Given the description of an element on the screen output the (x, y) to click on. 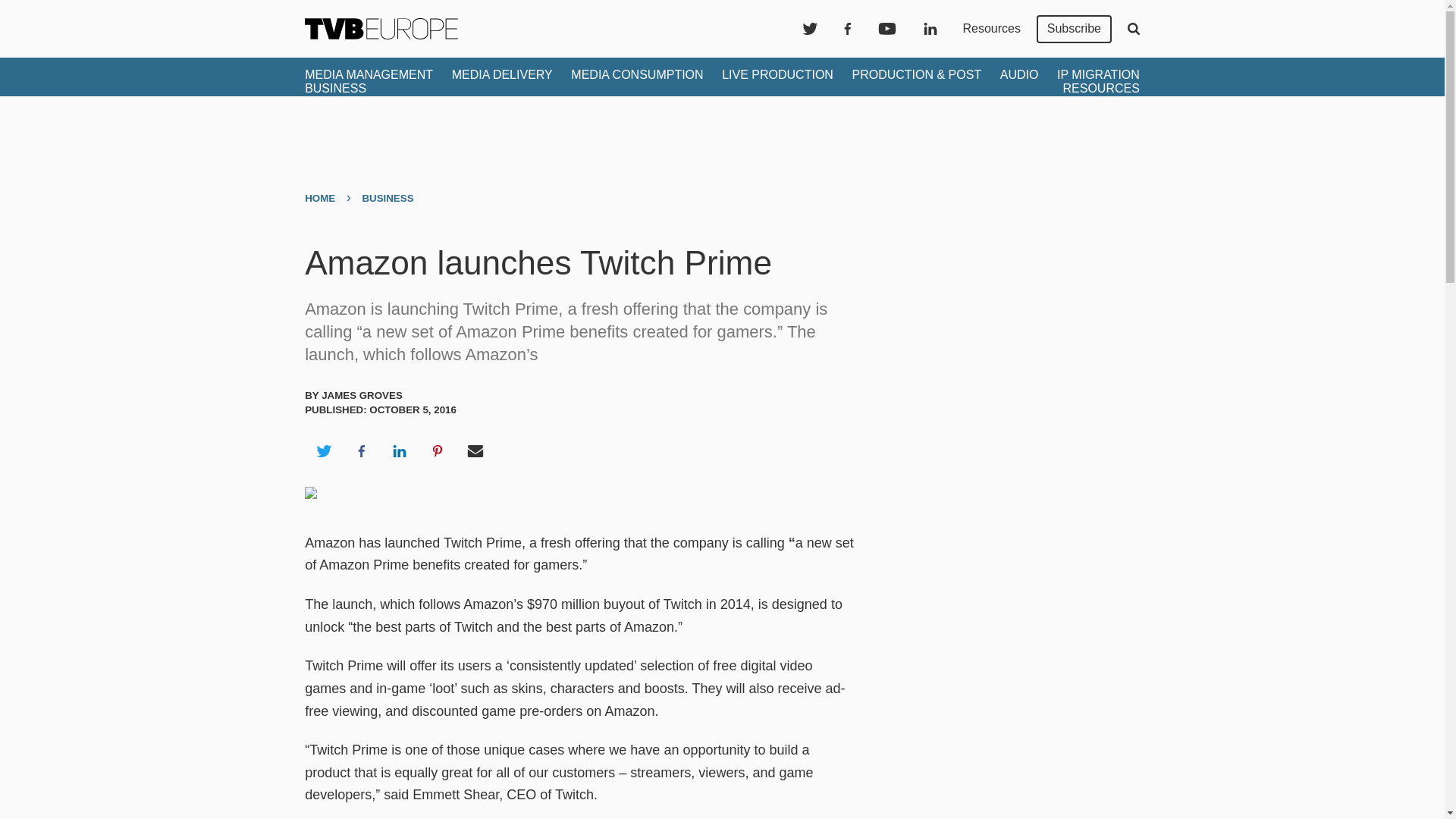
James Groves's Author Profile (362, 395)
Share on Pinterest (438, 451)
Share on LinkedIn (399, 451)
Share on Facebook (361, 451)
Share on Twitter (323, 451)
Share via Email (476, 451)
